Given the description of an element on the screen output the (x, y) to click on. 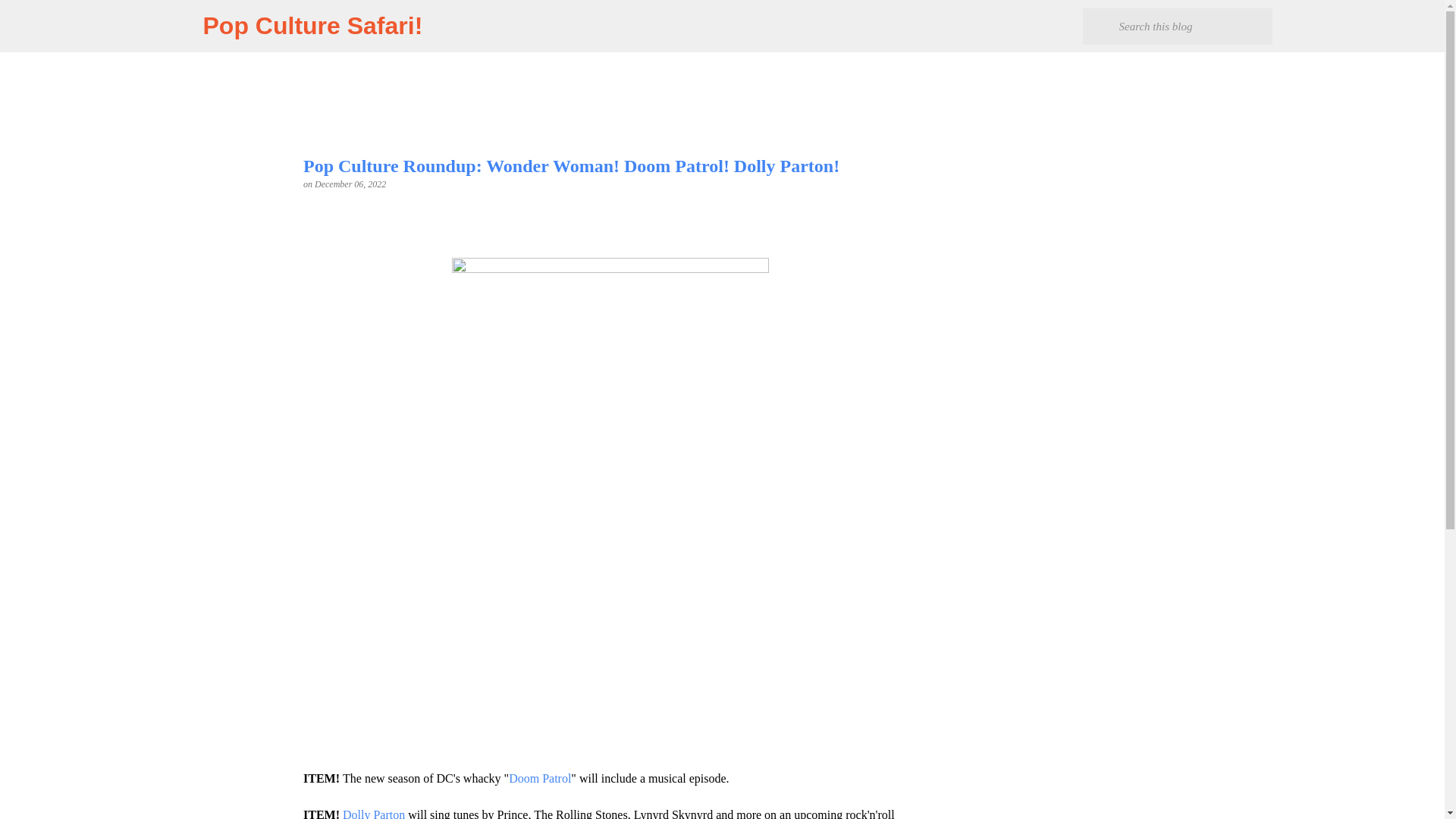
Pop Culture Safari! (313, 25)
Dolly Parton (373, 813)
permanent link (349, 184)
Doom Patrol (539, 778)
December 06, 2022 (349, 184)
